Given the description of an element on the screen output the (x, y) to click on. 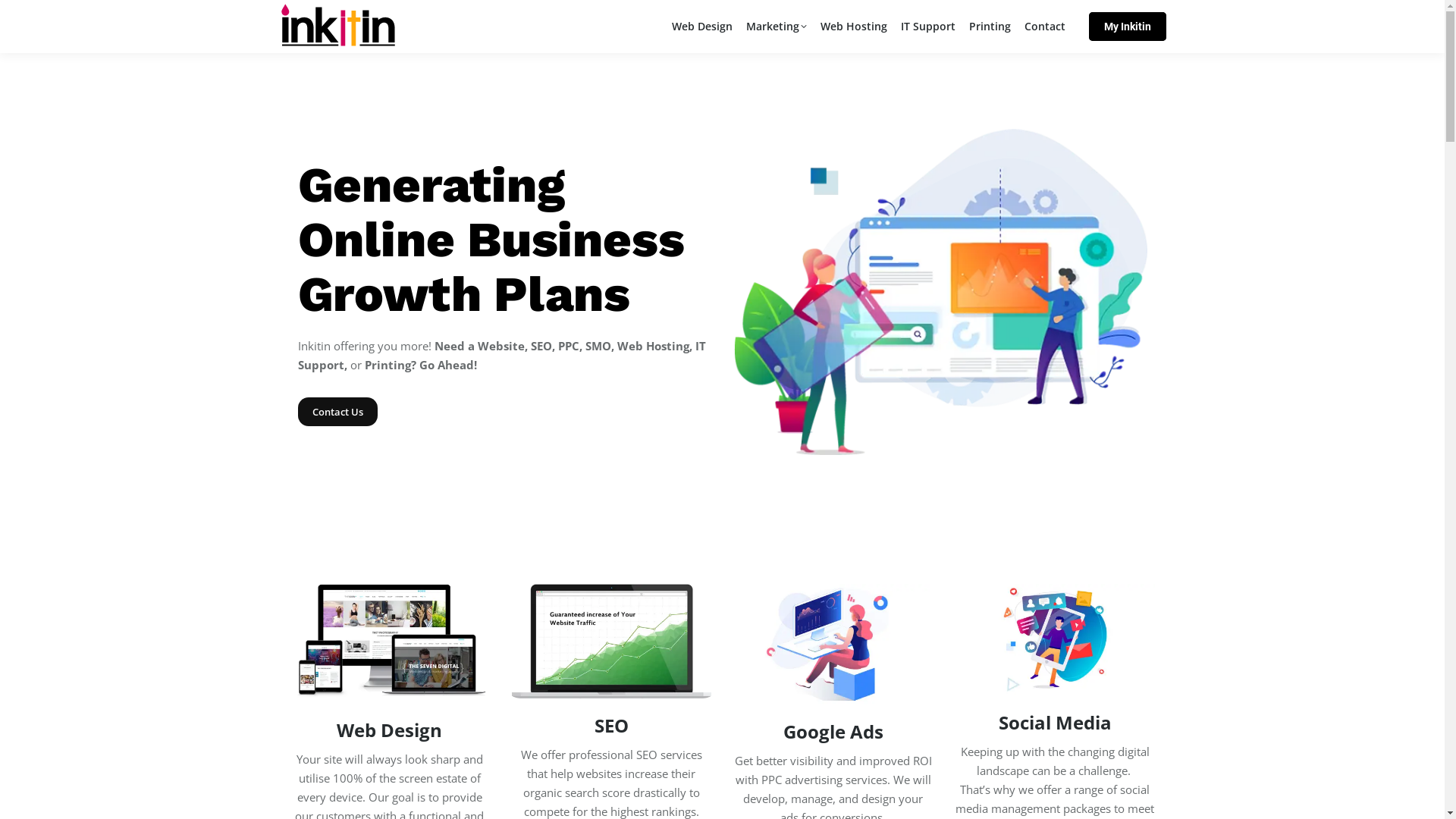
Web Hosting Element type: text (853, 26)
Printing Element type: text (989, 26)
Home Element type: text (641, 26)
My Inkitin Element type: text (1127, 26)
Contact Us Element type: text (337, 411)
IT Support Element type: text (927, 26)
Contact Element type: text (1043, 26)
Marketing Element type: text (776, 26)
Web Design Element type: text (701, 26)
